Given the description of an element on the screen output the (x, y) to click on. 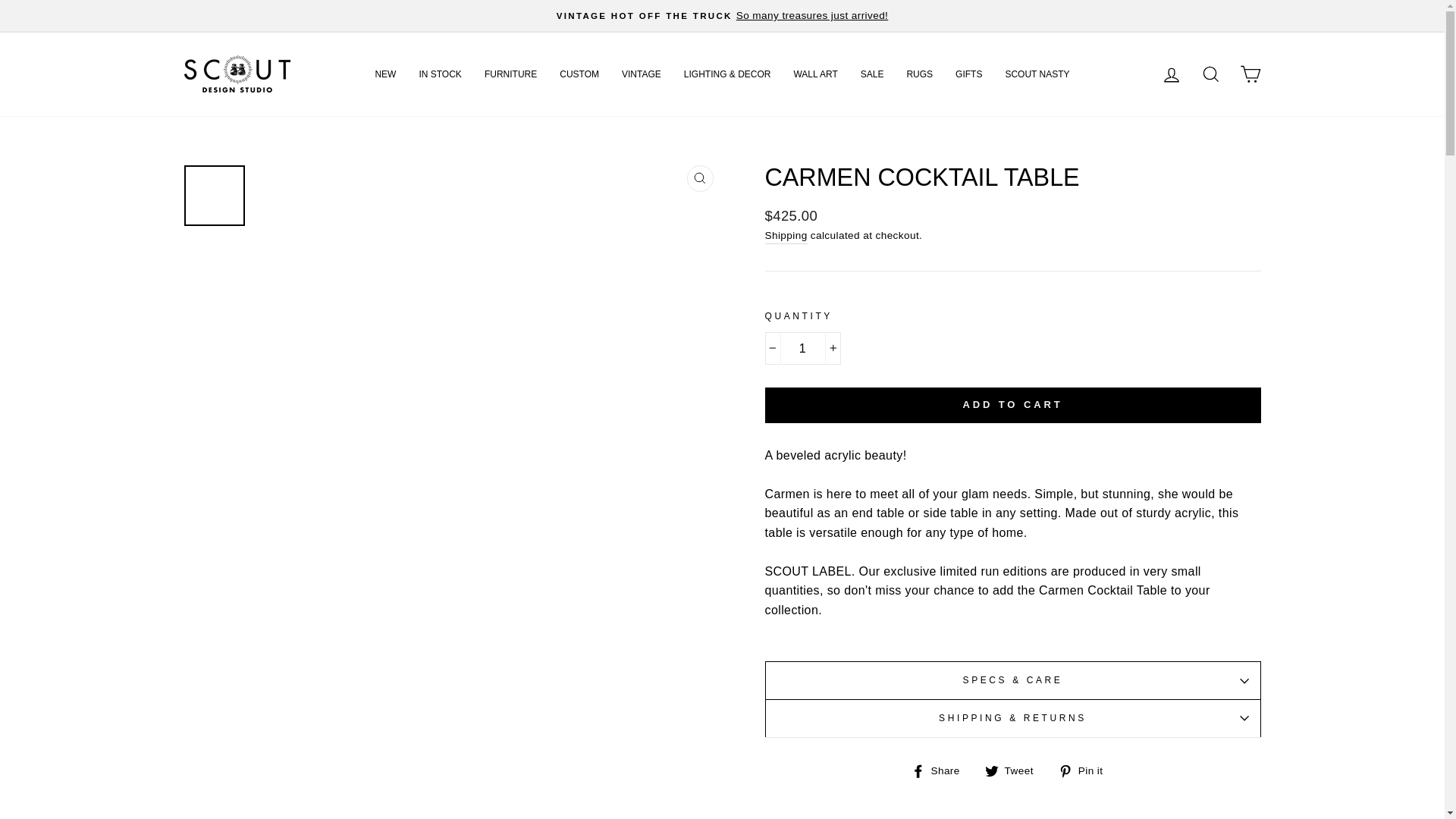
Tweet on Twitter (1015, 770)
Share on Facebook (941, 770)
Pin on Pinterest (1085, 770)
1 (802, 348)
